Given the description of an element on the screen output the (x, y) to click on. 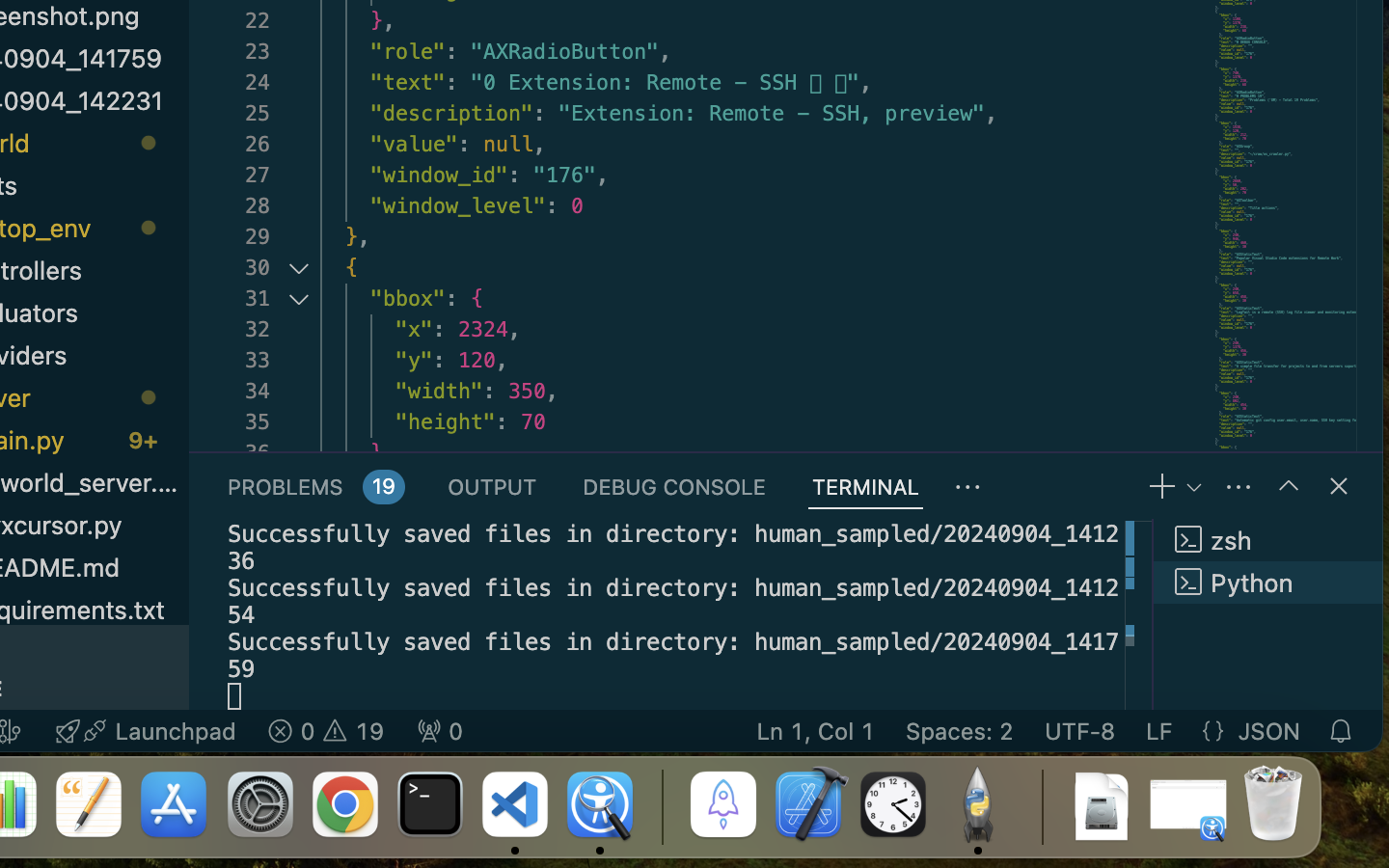
Launchpad   Element type: AXButton (145, 730)
zsh  Element type: AXGroup (1268, 539)
 Element type: AXGroup (968, 487)
 0 Element type: AXButton (439, 730)
Python  Element type: AXGroup (1268, 582)
